Given the description of an element on the screen output the (x, y) to click on. 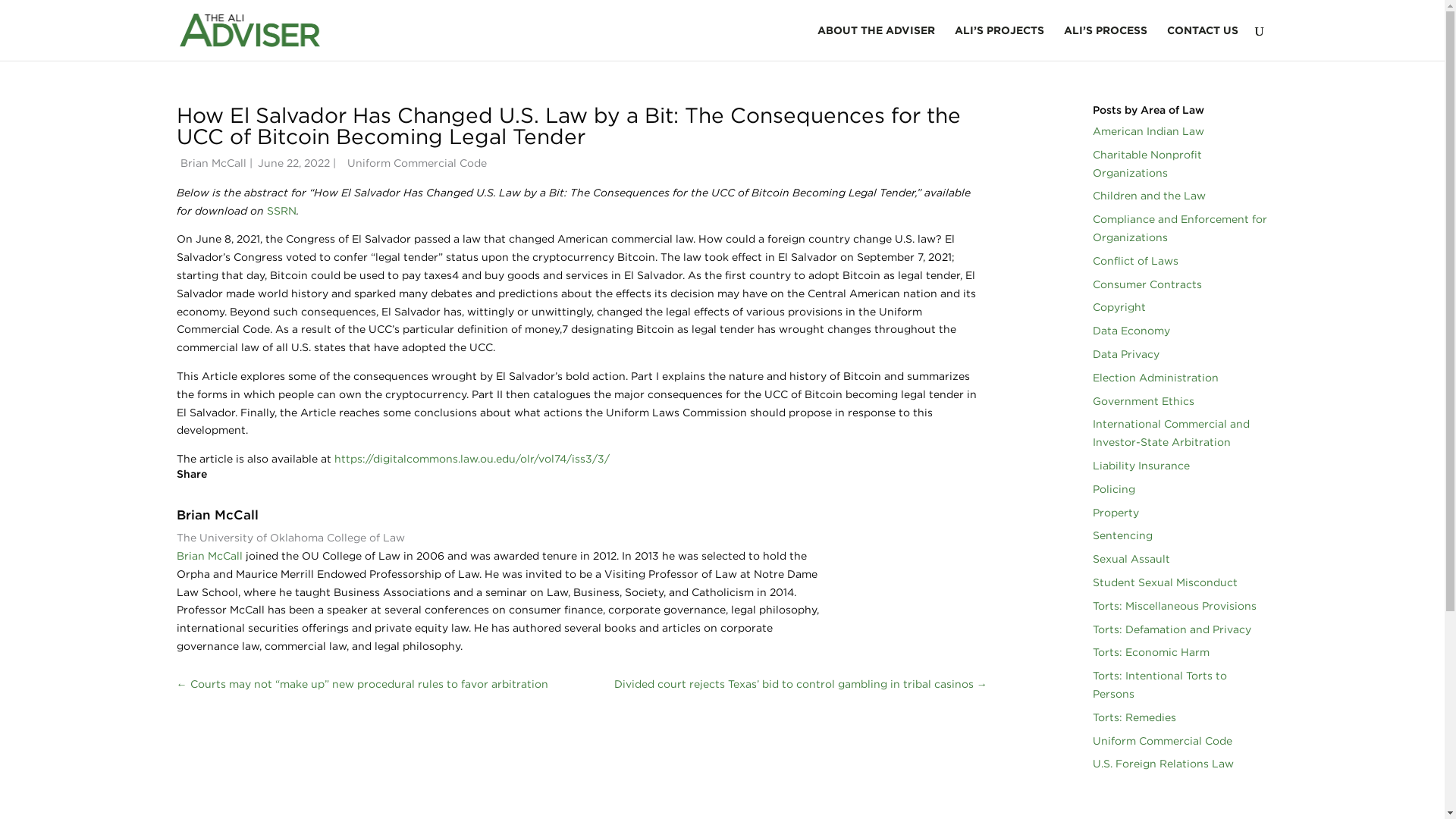
Election Administration (1155, 377)
Data Economy (1131, 330)
International Commercial and Investor-State Arbitration (1171, 432)
Brian McCall (208, 555)
ABOUT THE ADVISER (875, 42)
Sexual Assault (1131, 558)
Student Sexual Misconduct (1165, 582)
Torts: Miscellaneous Provisions (1174, 605)
Children and the Law (1149, 195)
Policing (1114, 489)
